Given the description of an element on the screen output the (x, y) to click on. 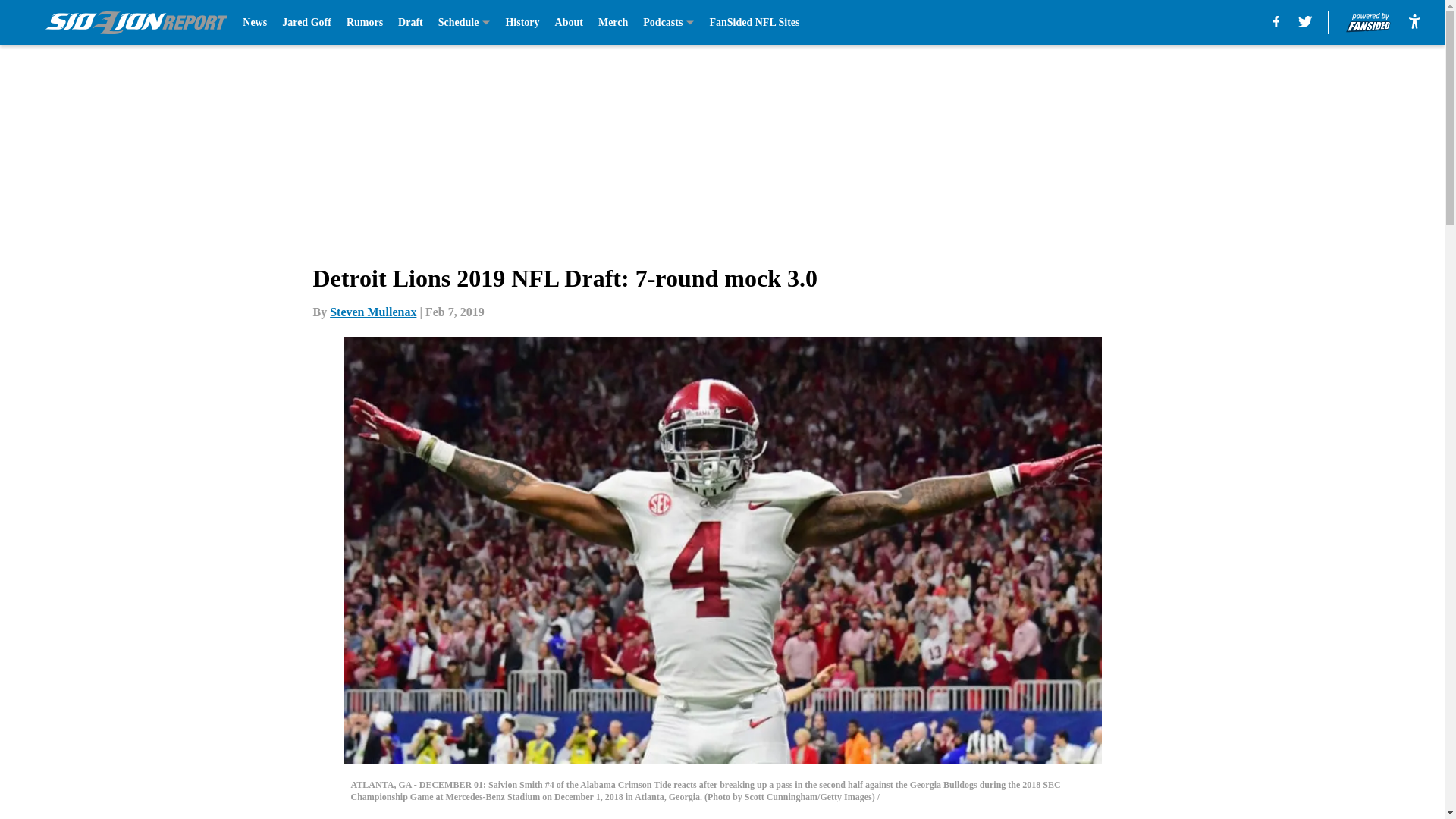
Jared Goff (306, 22)
Steven Mullenax (373, 311)
Rumors (364, 22)
History (521, 22)
FanSided NFL Sites (754, 22)
Draft (410, 22)
News (254, 22)
Merch (612, 22)
About (568, 22)
